Given the description of an element on the screen output the (x, y) to click on. 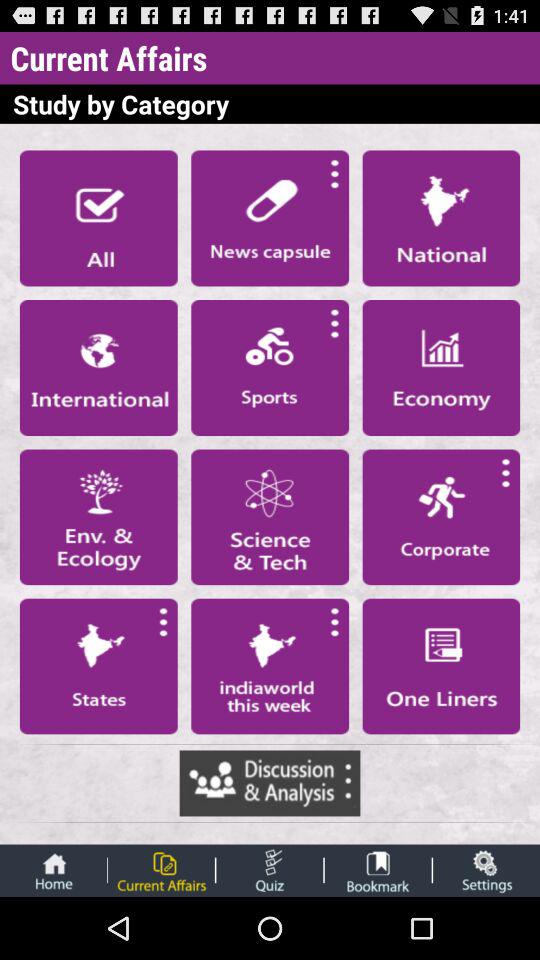
go to news (270, 218)
